Given the description of an element on the screen output the (x, y) to click on. 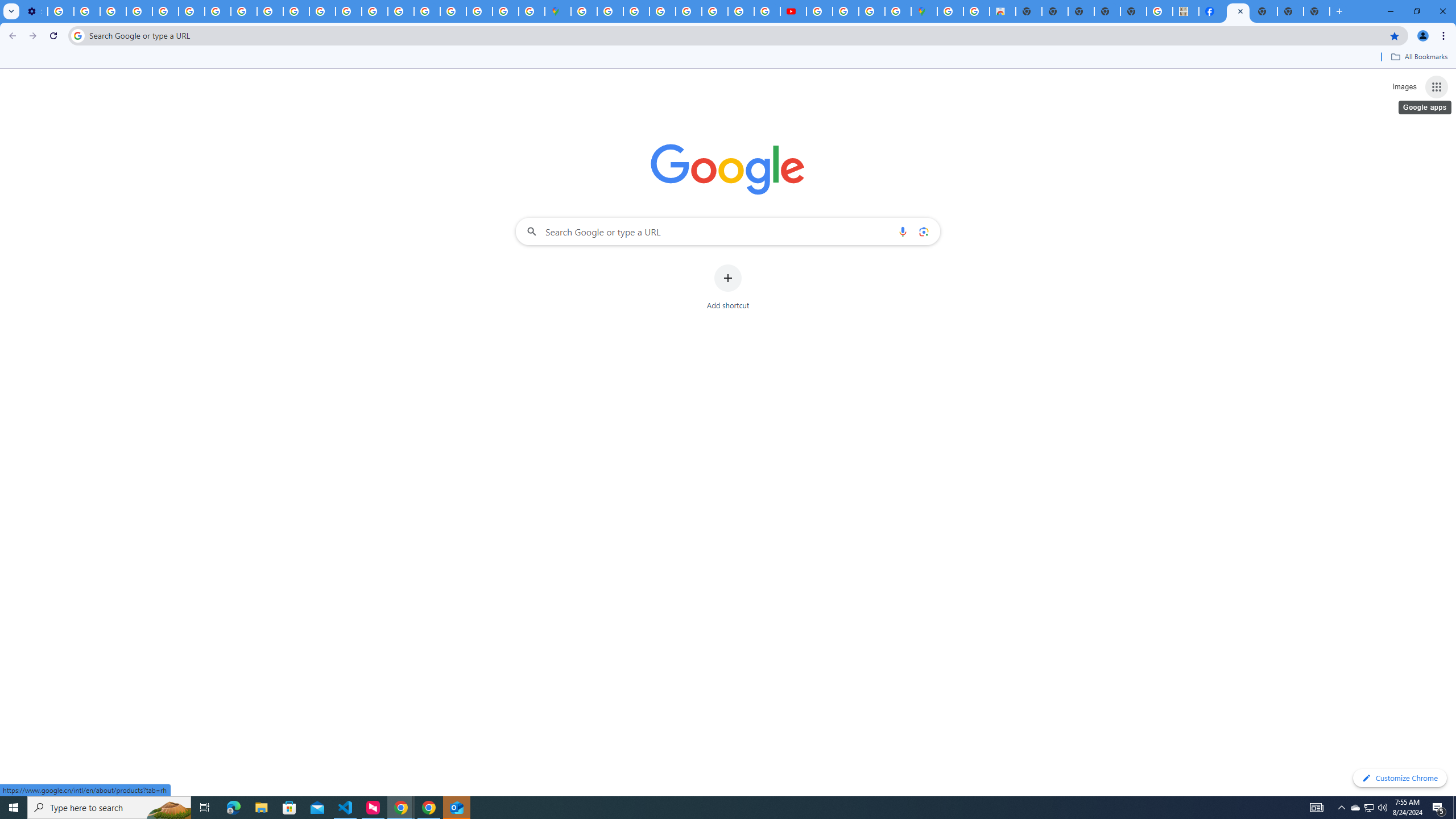
MILEY CYRUS. (1185, 11)
Settings - Customize profile (34, 11)
Sign in - Google Accounts (584, 11)
Miley Cyrus | Facebook (1211, 11)
Privacy Help Center - Policies Help (740, 11)
Terms and Conditions (689, 11)
Subscriptions - YouTube (792, 11)
